Given the description of an element on the screen output the (x, y) to click on. 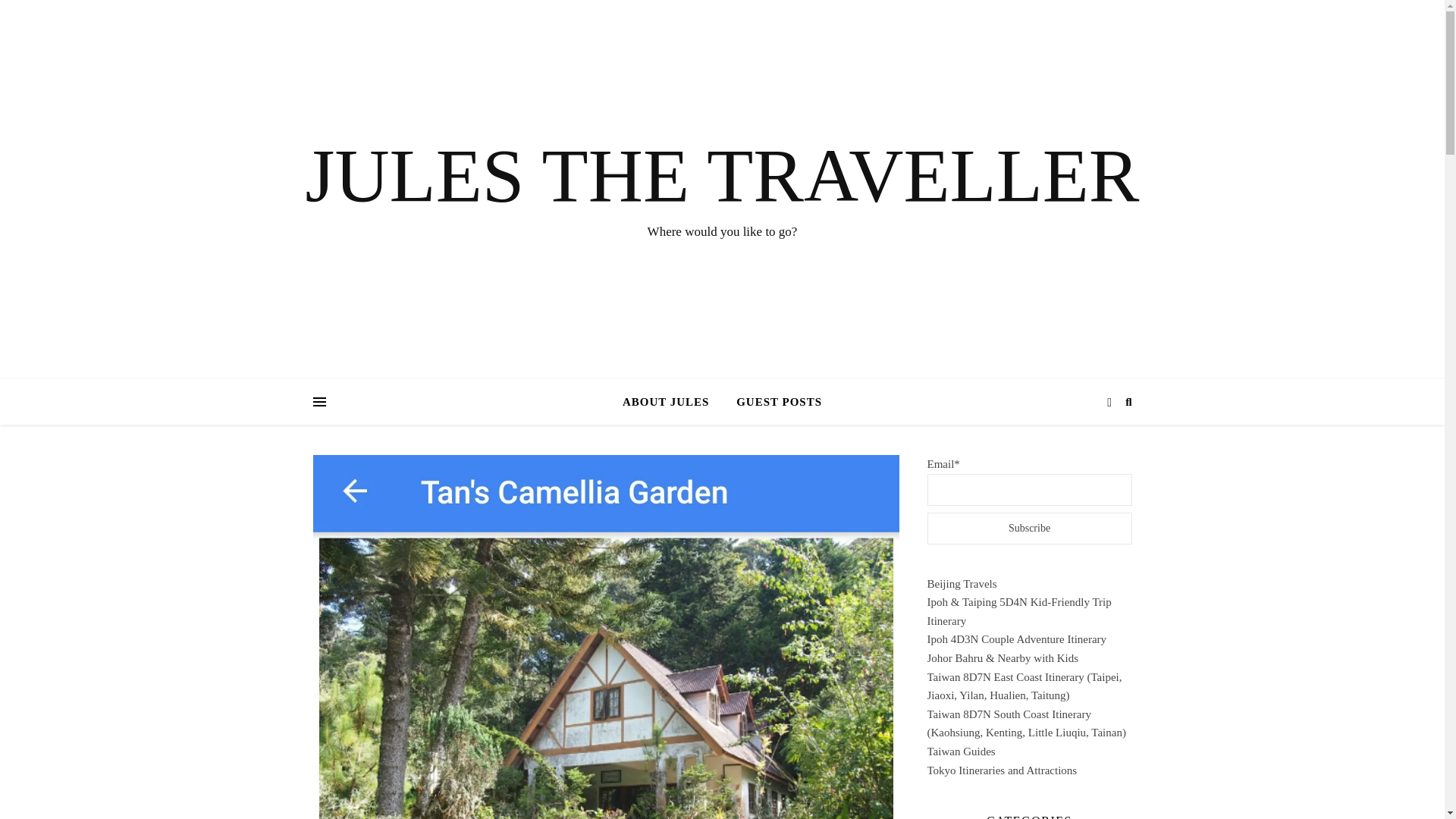
ABOUT JULES (672, 402)
Beijing Travels (960, 583)
GUEST POSTS (772, 402)
Subscribe (1028, 528)
